Given the description of an element on the screen output the (x, y) to click on. 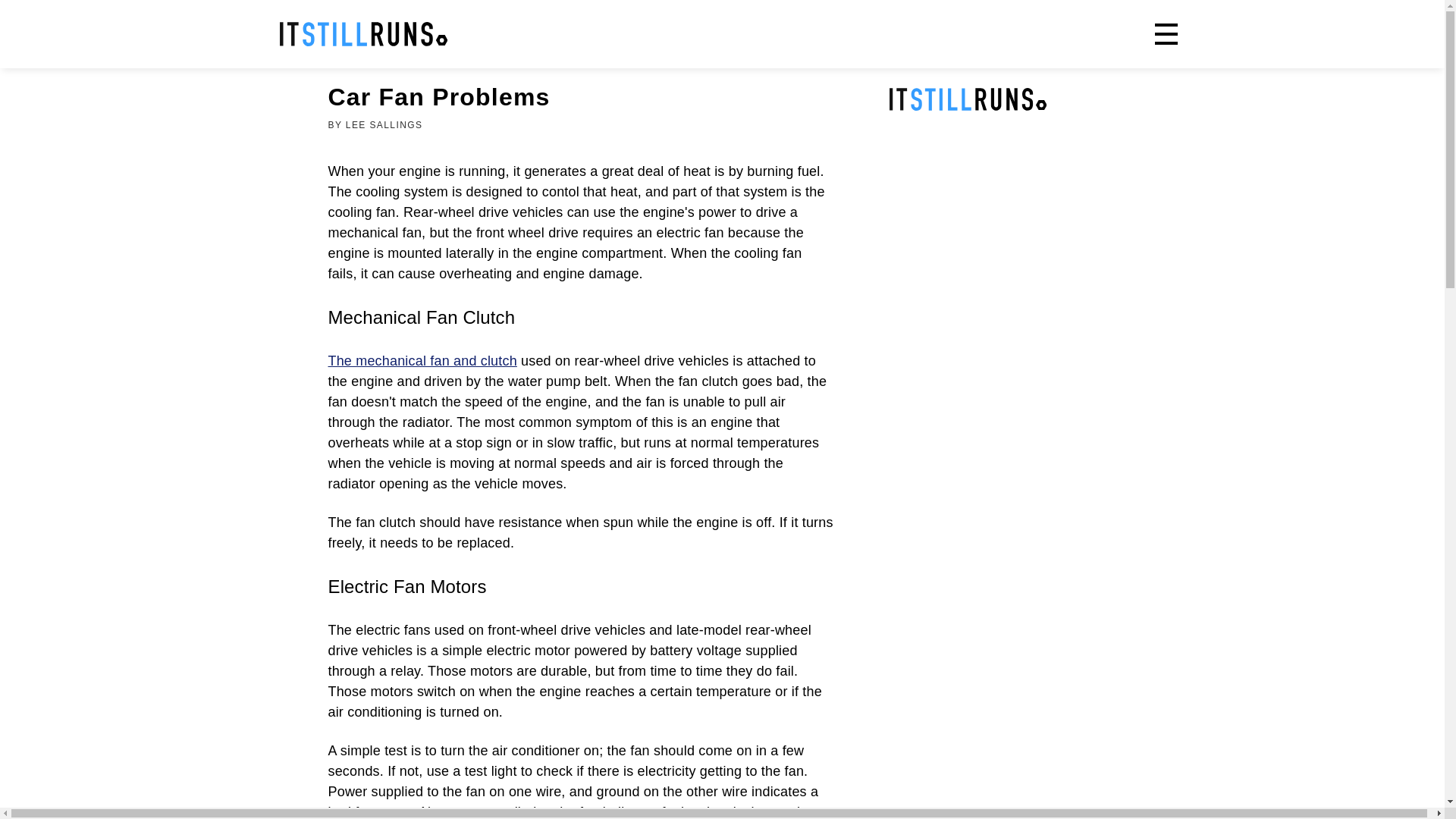
The mechanical fan and clutch (421, 360)
